Given the description of an element on the screen output the (x, y) to click on. 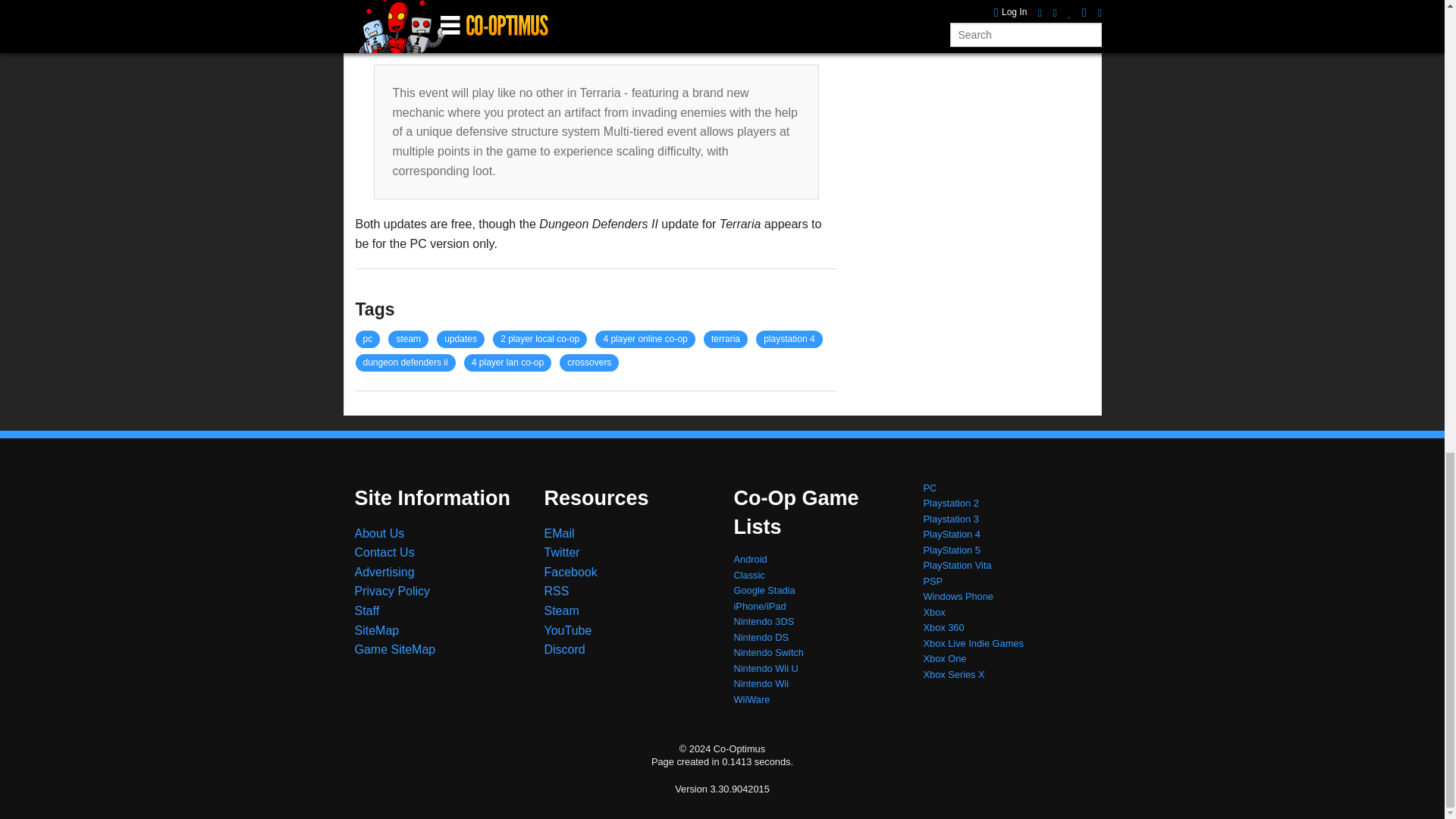
Our current staff and bios. (367, 610)
Join our Steam Group! (561, 610)
Advertising rates and traffic numbers. (384, 571)
